Given the description of an element on the screen output the (x, y) to click on. 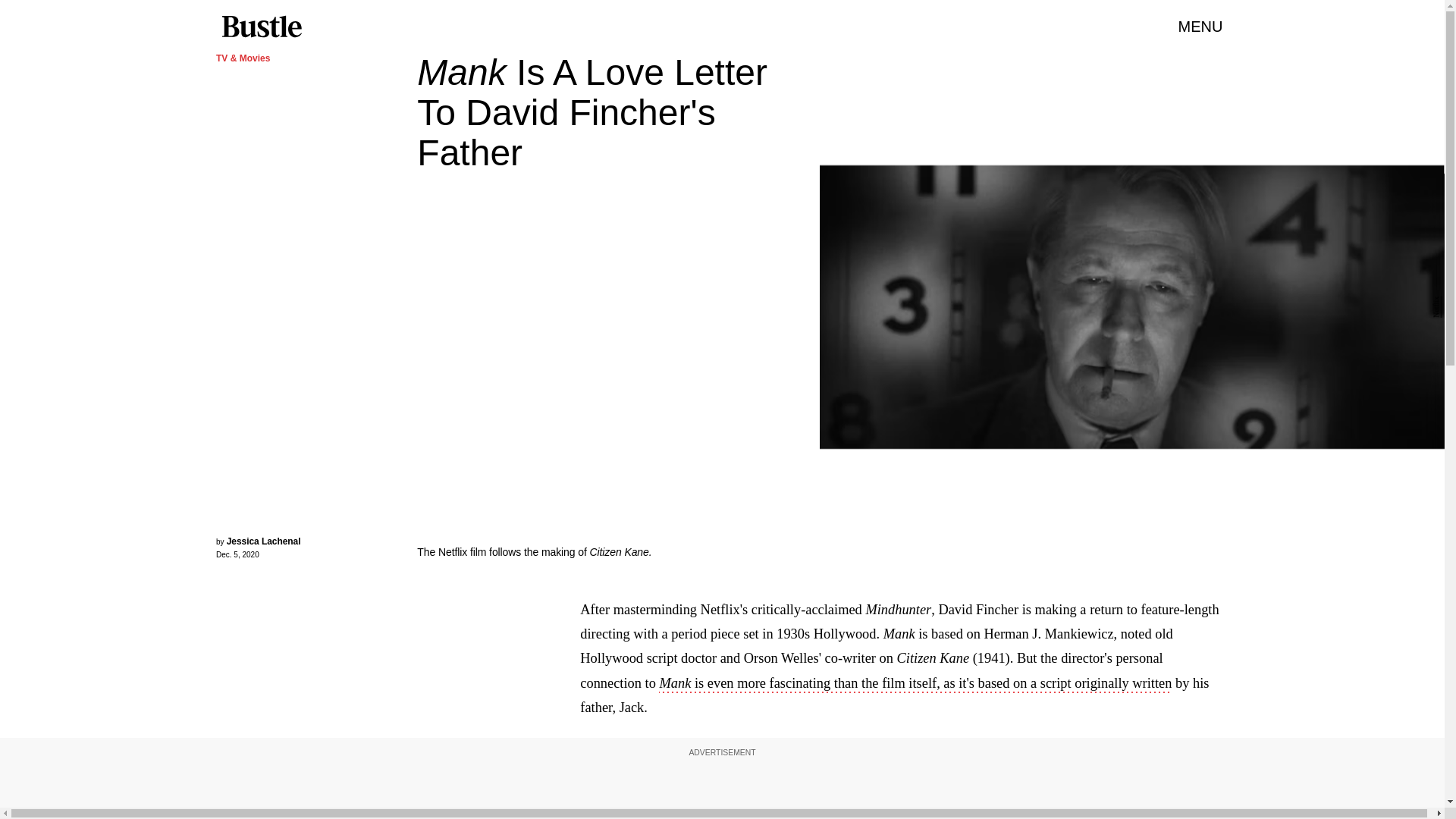
Bustle (261, 26)
Netflix (1436, 306)
